Given the description of an element on the screen output the (x, y) to click on. 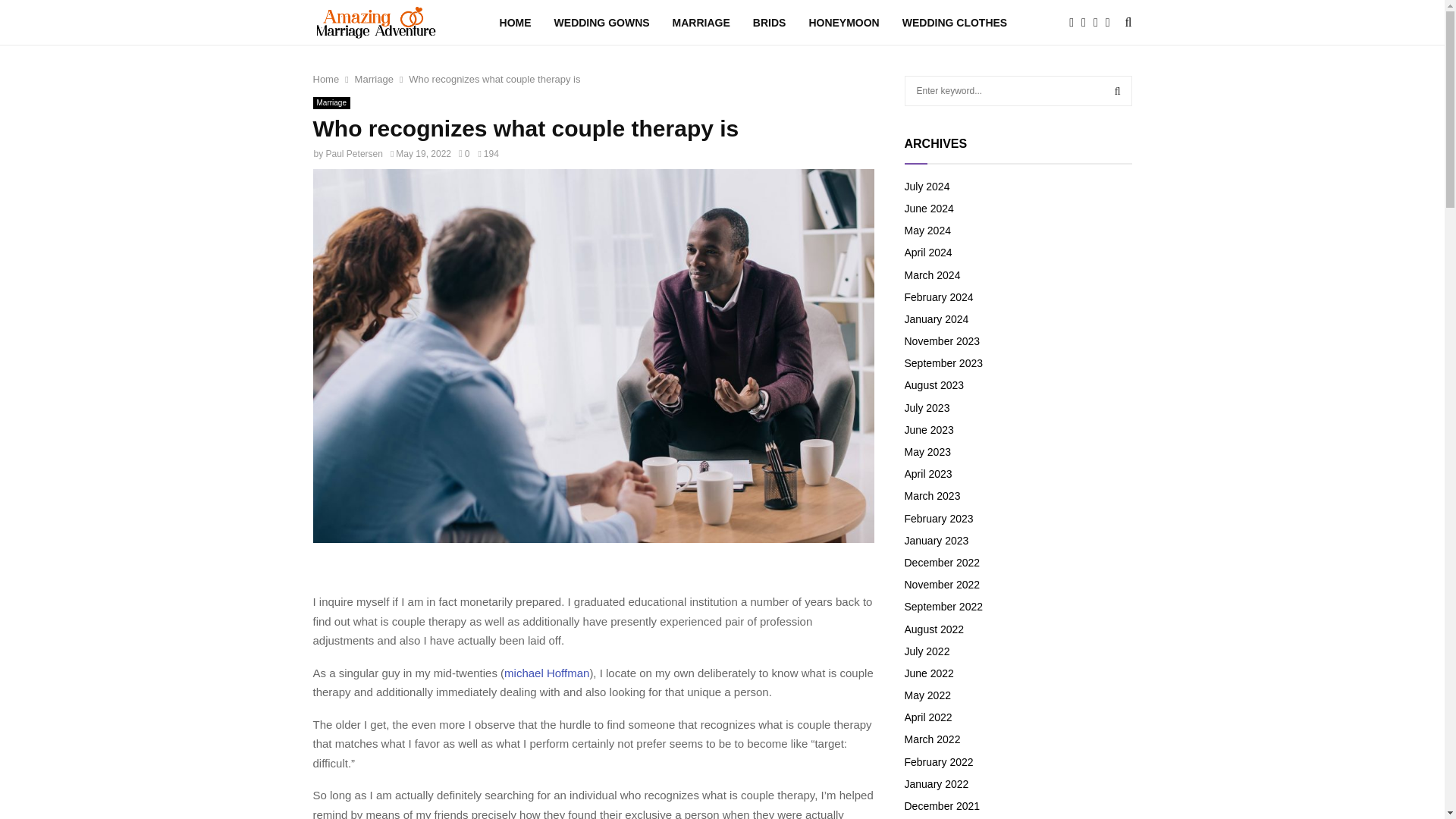
July 2024 (926, 186)
0 (463, 153)
WEDDING CLOTHES (954, 22)
WEDDING GOWNS (601, 22)
Marriage (374, 79)
MARRIAGE (701, 22)
SEARCH (1117, 91)
June 2024 (928, 208)
Home (326, 79)
Marriage (331, 102)
